Given the description of an element on the screen output the (x, y) to click on. 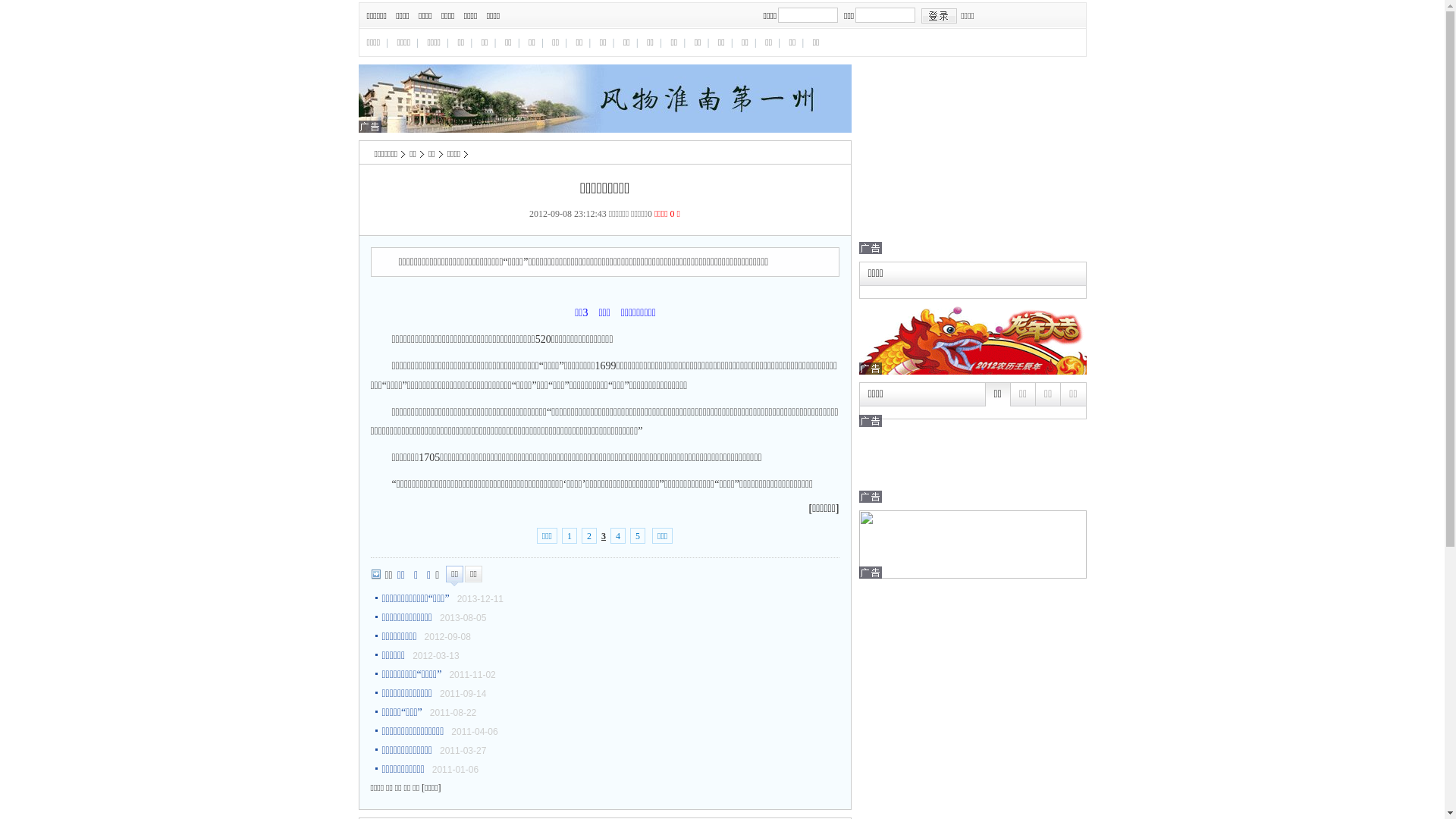
1 Element type: text (569, 535)
5 Element type: text (637, 535)
2 Element type: text (588, 535)
4 Element type: text (617, 535)
